Given the description of an element on the screen output the (x, y) to click on. 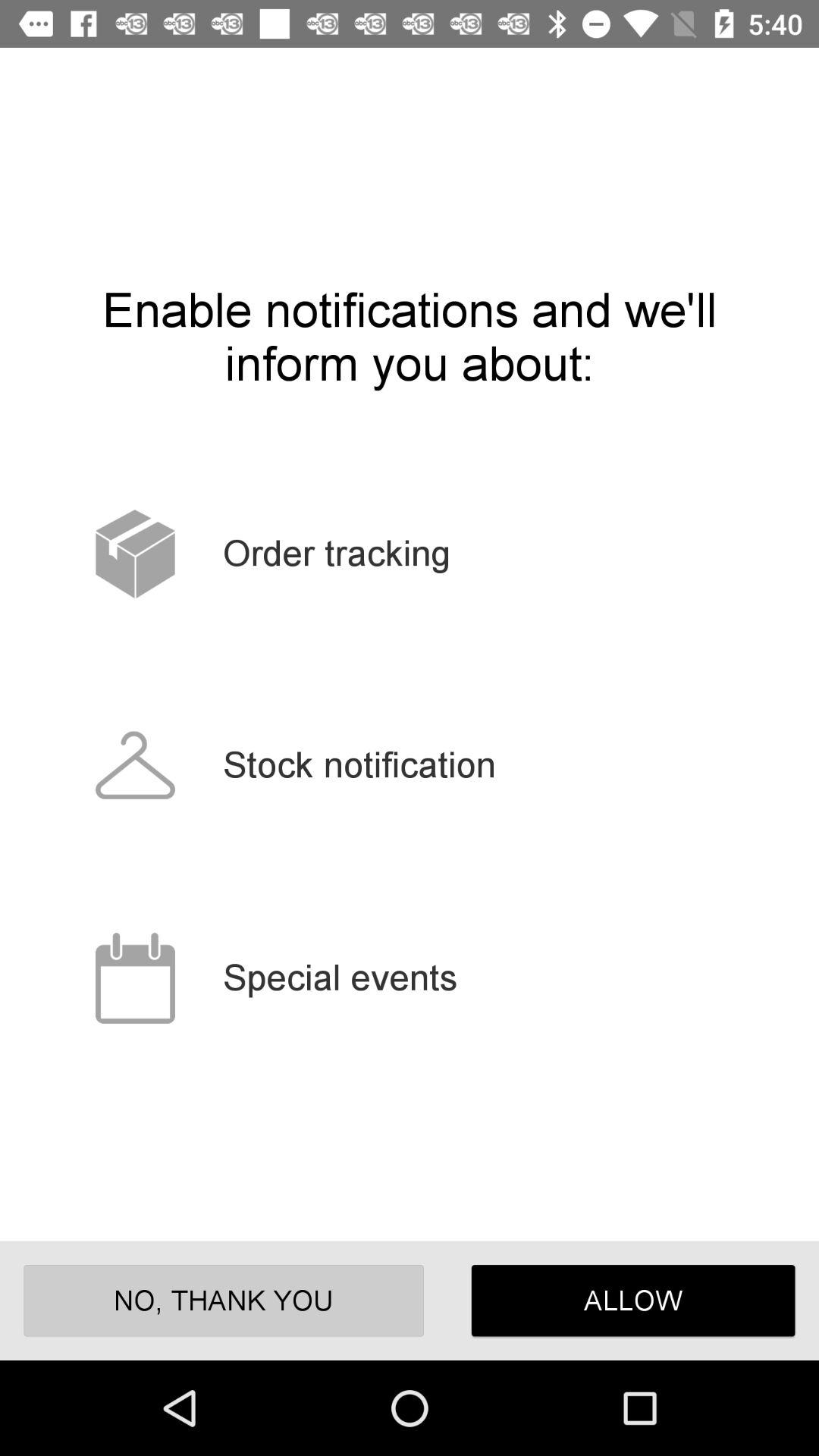
turn off the item to the left of the allow item (223, 1300)
